Given the description of an element on the screen output the (x, y) to click on. 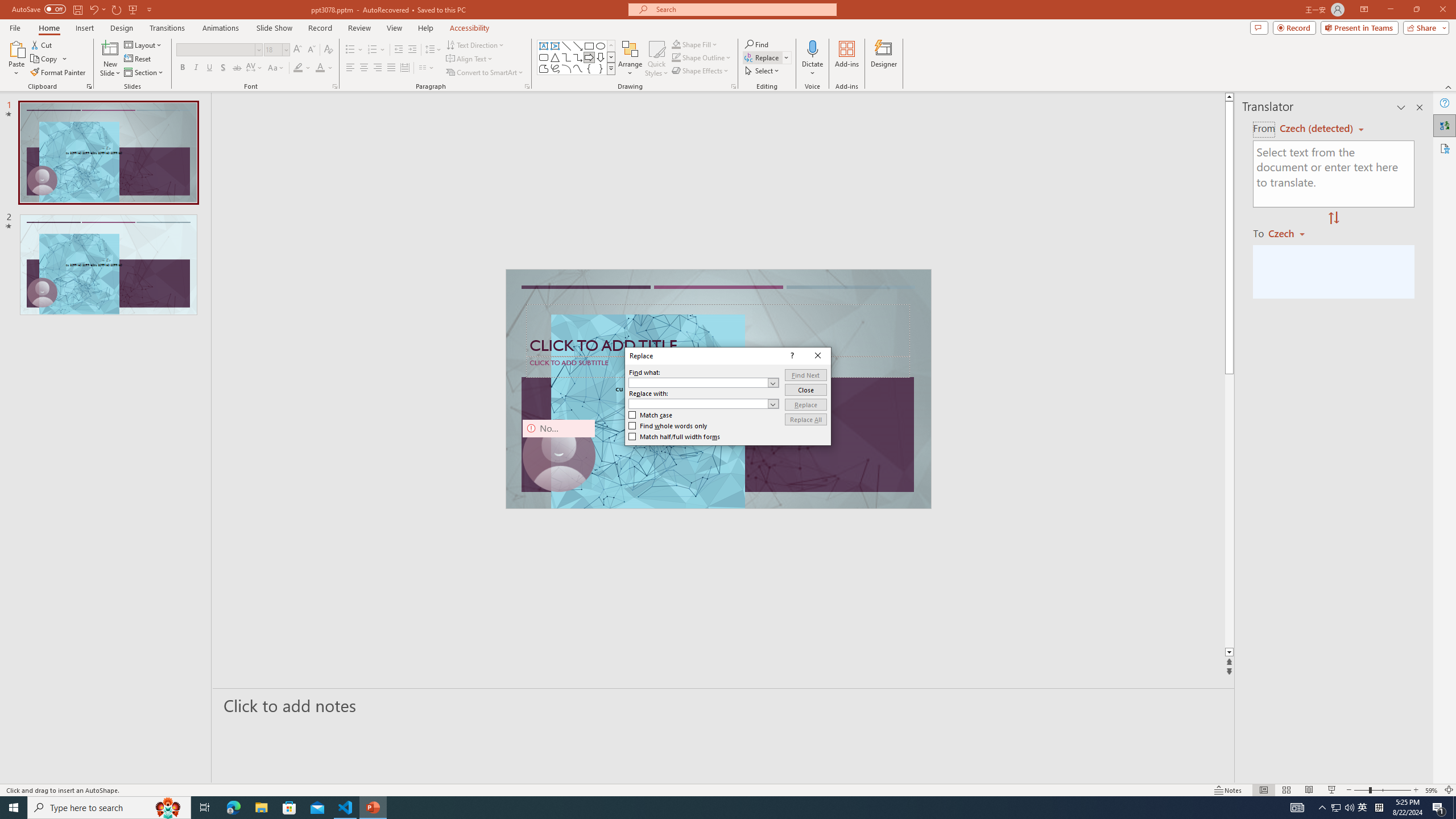
Zoom 59% (1431, 790)
